Given the description of an element on the screen output the (x, y) to click on. 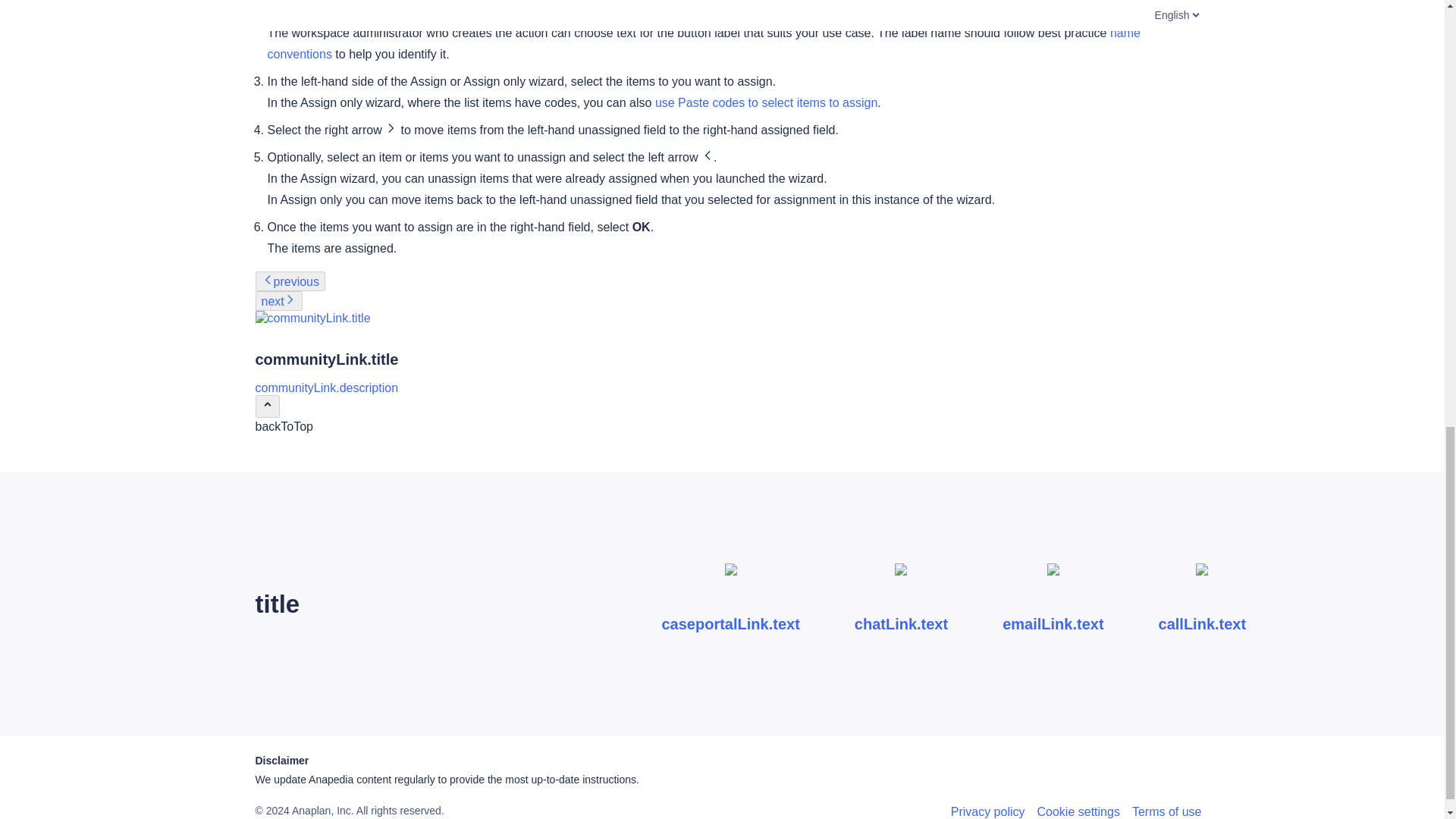
emailLink.text (1052, 604)
previous (289, 281)
caseportalLink.text (729, 604)
Terms of use (1167, 811)
next (277, 300)
previous (289, 281)
chatLink.text (900, 604)
Privacy policy (987, 811)
next (277, 301)
